Given the description of an element on the screen output the (x, y) to click on. 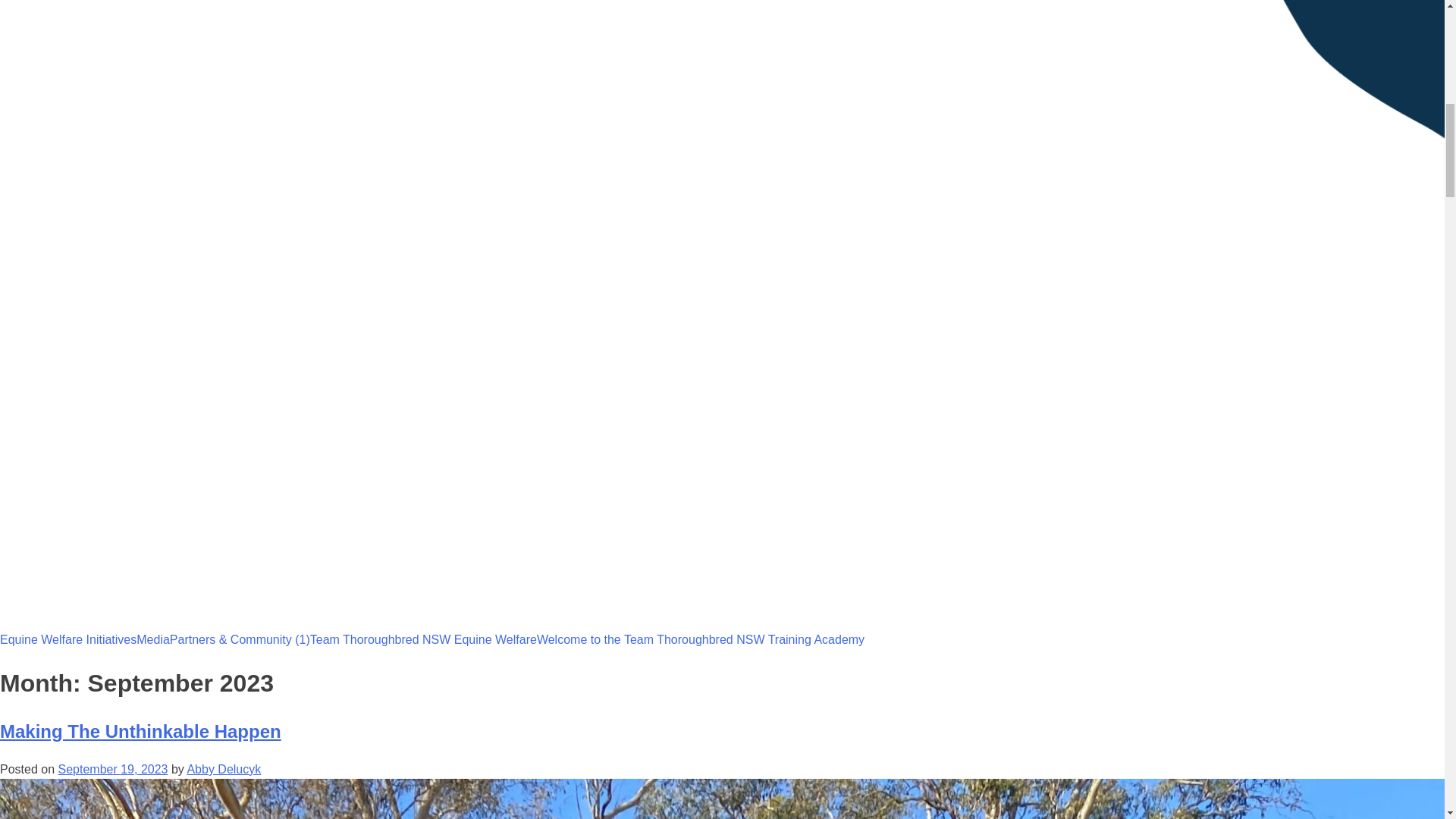
Media (153, 639)
Team Thoroughbred NSW (70, 651)
Team Thoroughbred NSW Equine Welfare (423, 639)
Equine Welfare Initiatives (68, 639)
